Given the description of an element on the screen output the (x, y) to click on. 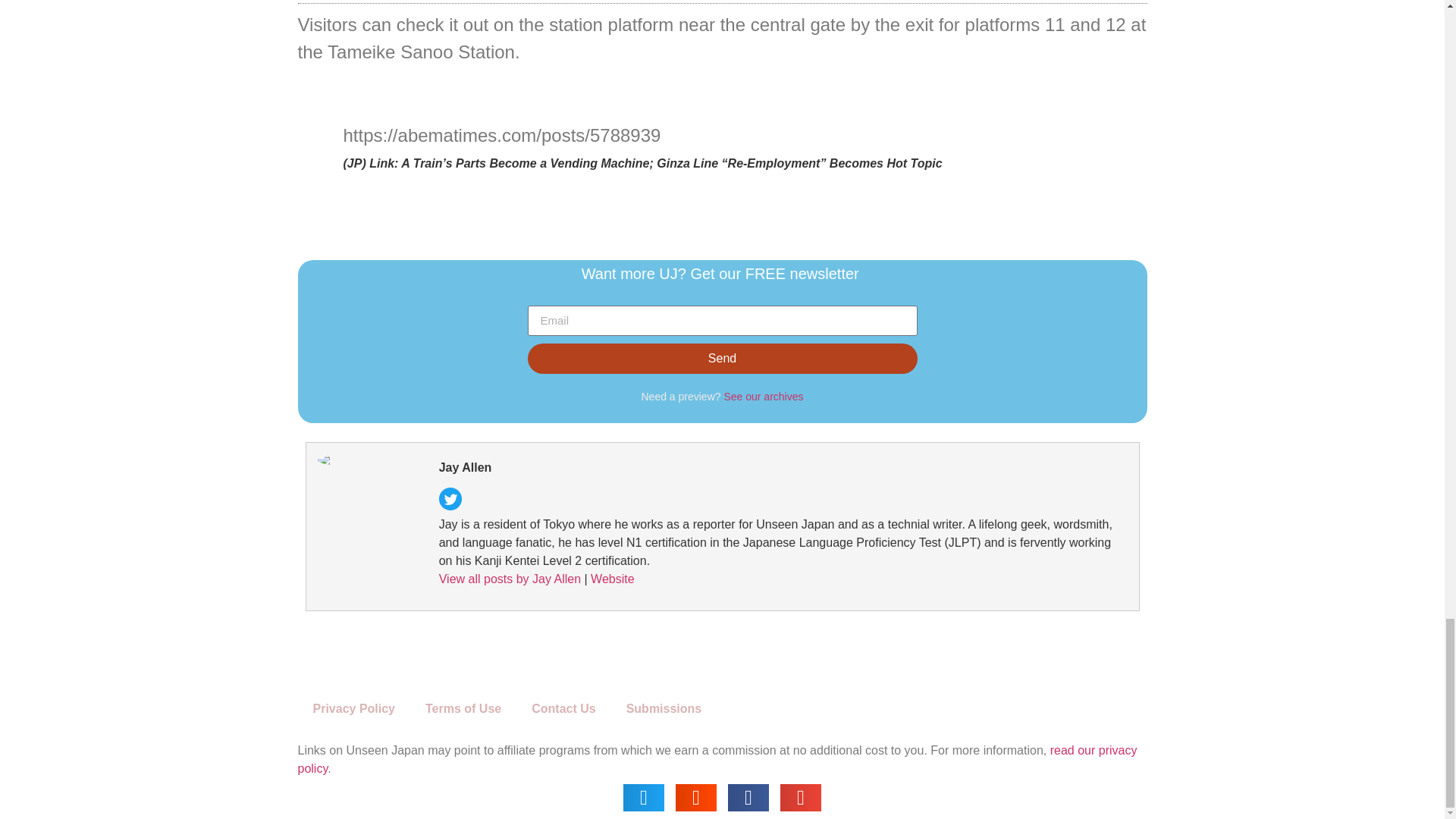
View all posts by Jay Allen (509, 578)
See our archives (763, 396)
Send (722, 358)
Terms of Use (463, 708)
Privacy Policy (353, 708)
Contact Us (563, 708)
Website (612, 578)
